Given the description of an element on the screen output the (x, y) to click on. 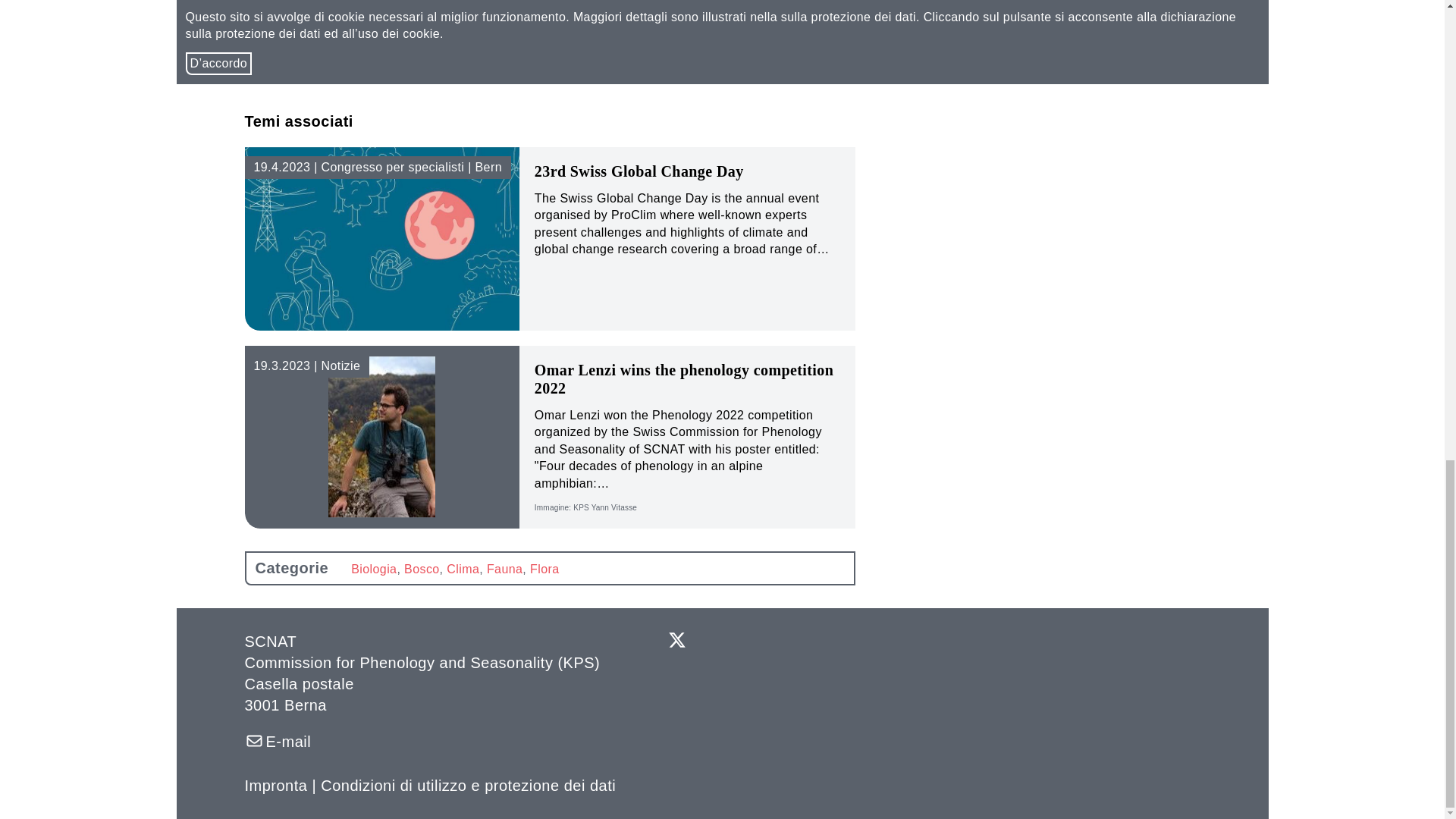
Swiss Global Change Day Teaser (381, 238)
Notizie (306, 365)
X (676, 642)
